Given the description of an element on the screen output the (x, y) to click on. 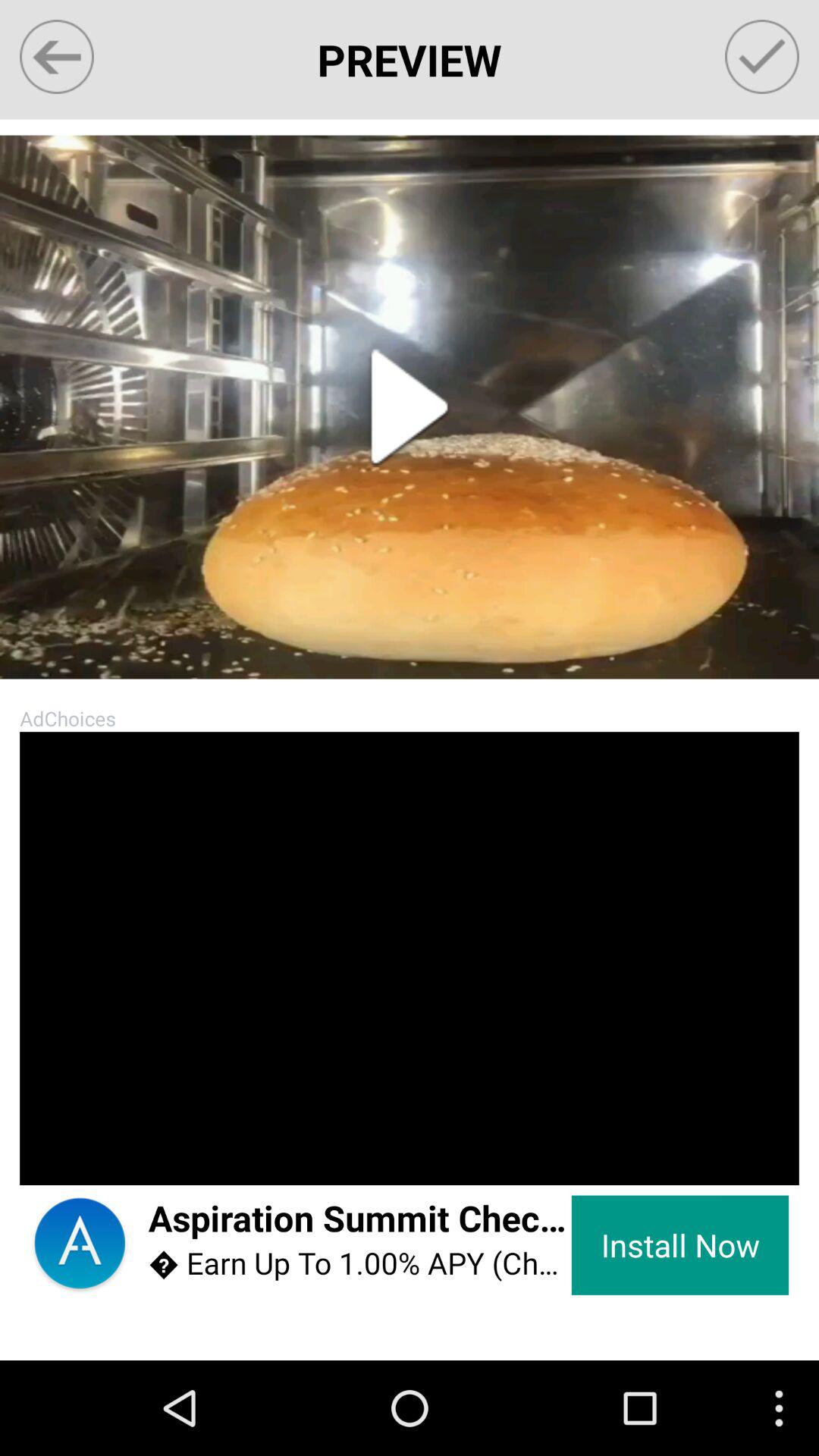
click app above earn up to item (359, 1219)
